Given the description of an element on the screen output the (x, y) to click on. 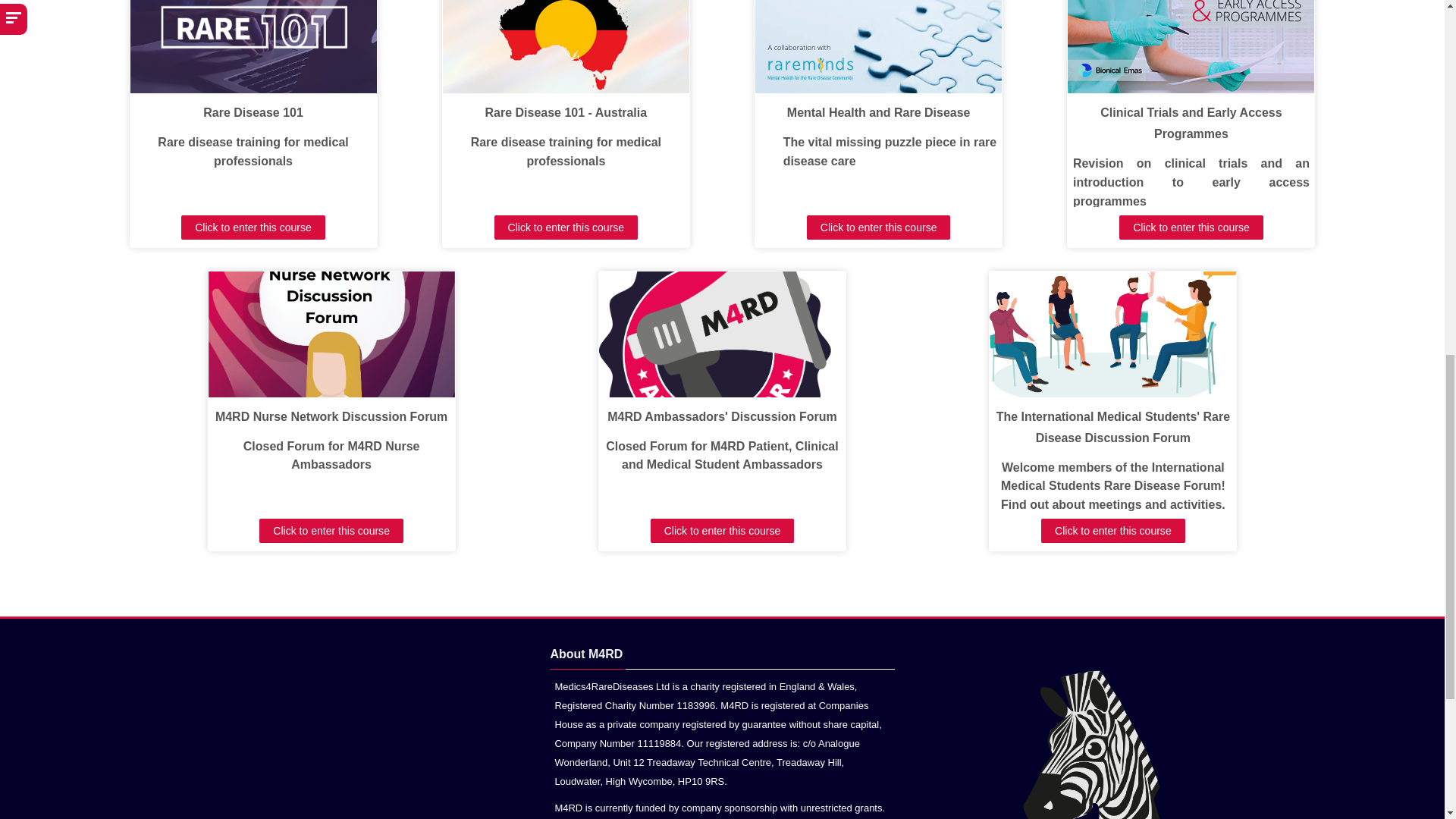
Click to enter this course (567, 227)
Rare Disease 101 - Australia (565, 112)
Mental Health and Rare Disease (879, 112)
Click to enter this course (252, 227)
Rare Disease 101 (252, 112)
